Given the description of an element on the screen output the (x, y) to click on. 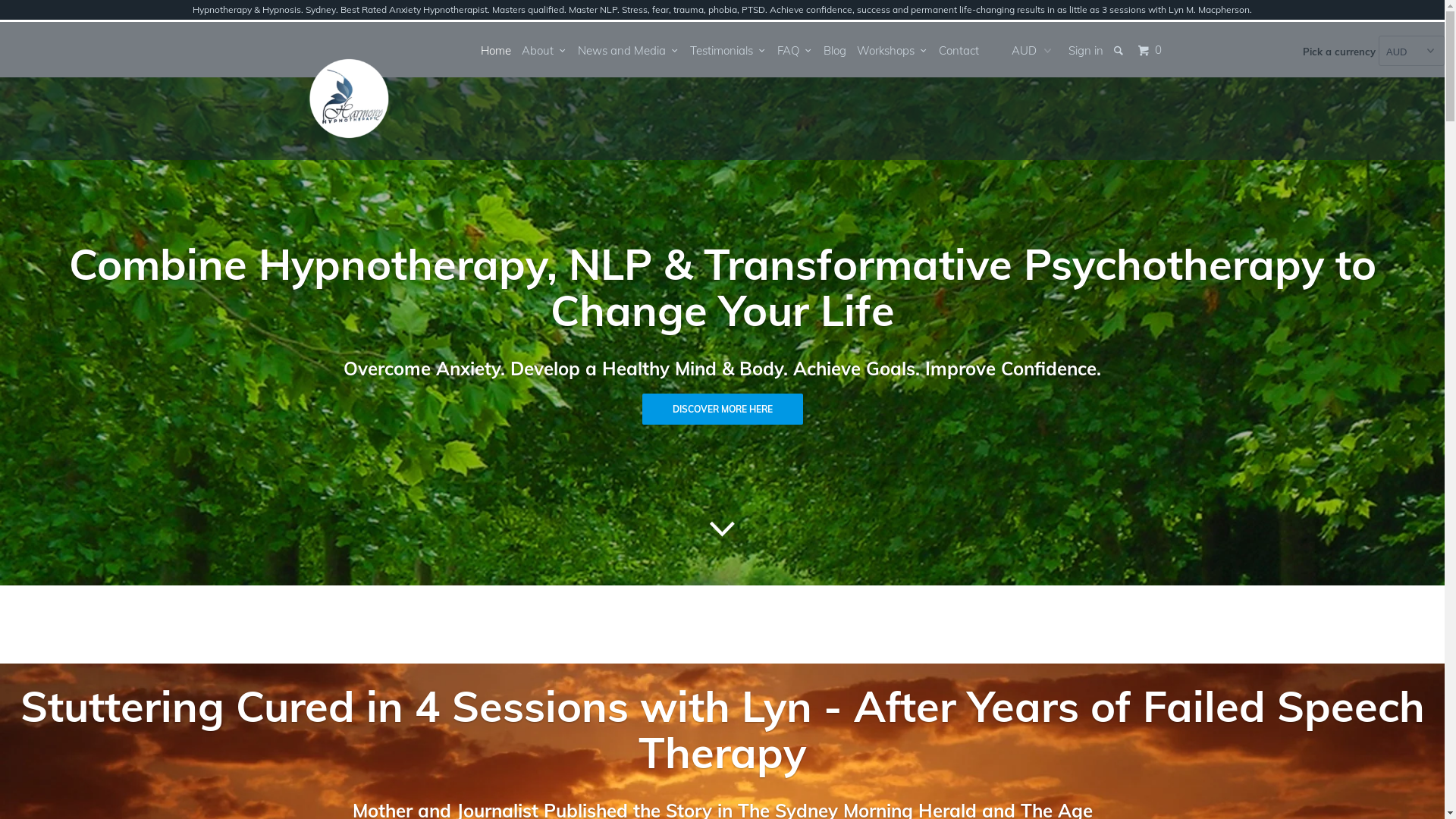
Search Element type: hover (1118, 50)
News and Media   Element type: text (628, 50)
0 Element type: text (1150, 50)
Workshops   Element type: text (892, 50)
DISCOVER MORE HERE Element type: text (721, 409)
About   Element type: text (544, 50)
Harmony Hypnotherapy Element type: hover (352, 90)
Contact Element type: text (958, 50)
Testimonials   Element type: text (728, 50)
Sign in Element type: text (1084, 50)
Blog Element type: text (834, 50)
Home Element type: text (495, 50)
FAQ   Element type: text (794, 50)
